Given the description of an element on the screen output the (x, y) to click on. 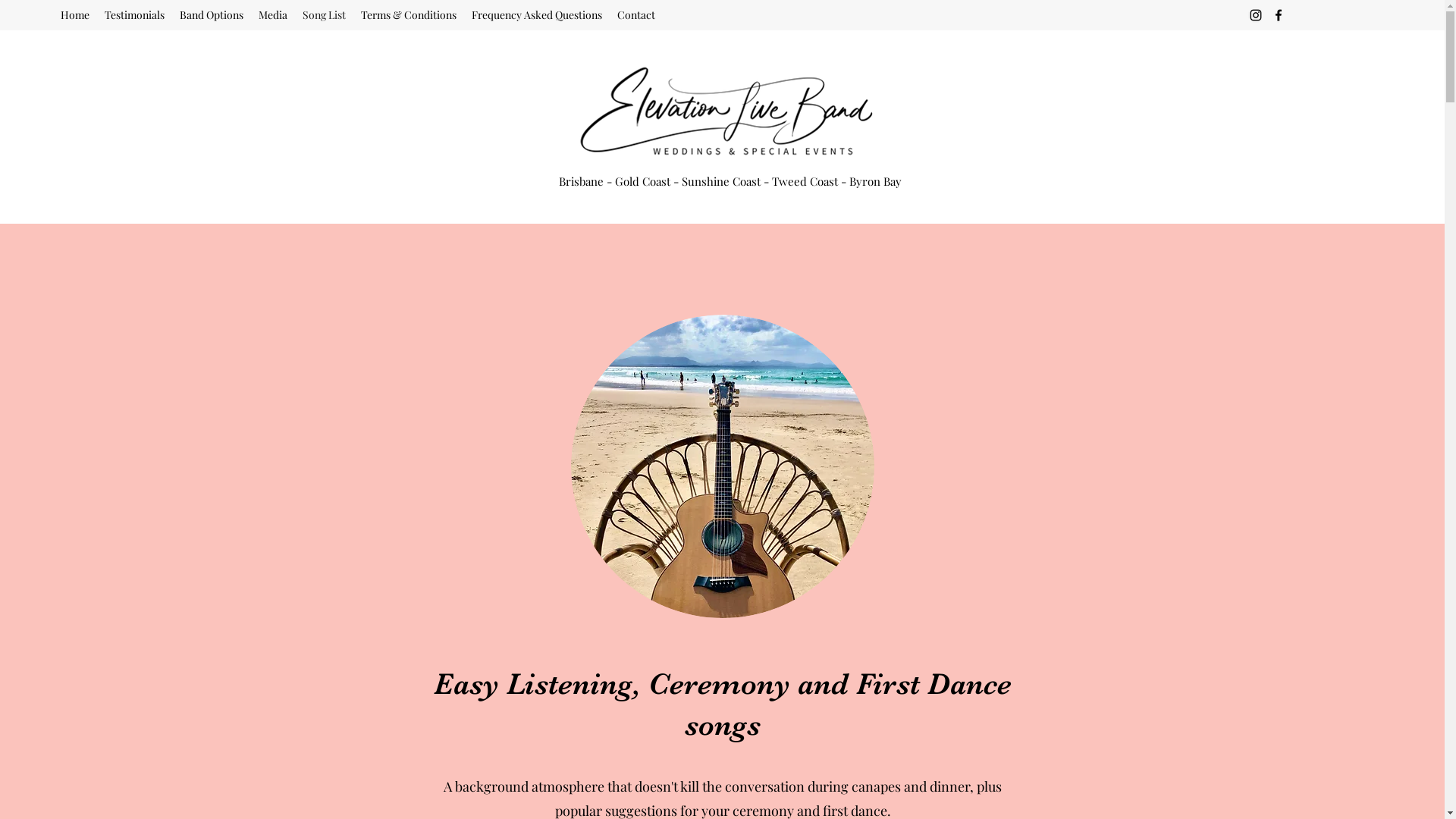
Song List Element type: text (323, 14)
Band Options Element type: text (211, 14)
Contact Element type: text (635, 14)
Testimonials Element type: text (134, 14)
Terms & Conditions Element type: text (408, 14)
Media Element type: text (272, 14)
Home Element type: text (75, 14)
Frequency Asked Questions Element type: text (536, 14)
